Given the description of an element on the screen output the (x, y) to click on. 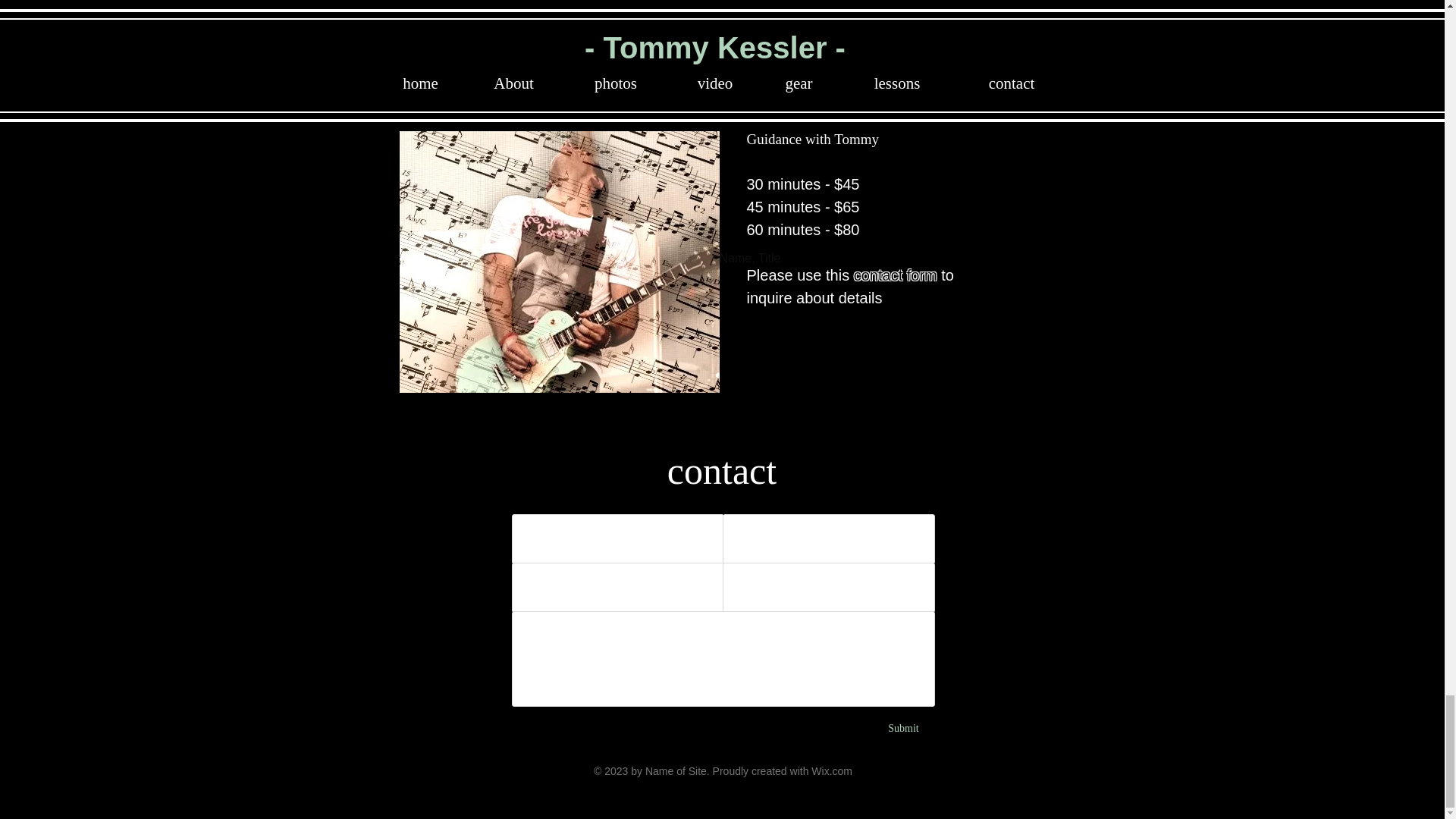
contact form (895, 274)
Wix.com (830, 770)
Submit (903, 728)
